Given the description of an element on the screen output the (x, y) to click on. 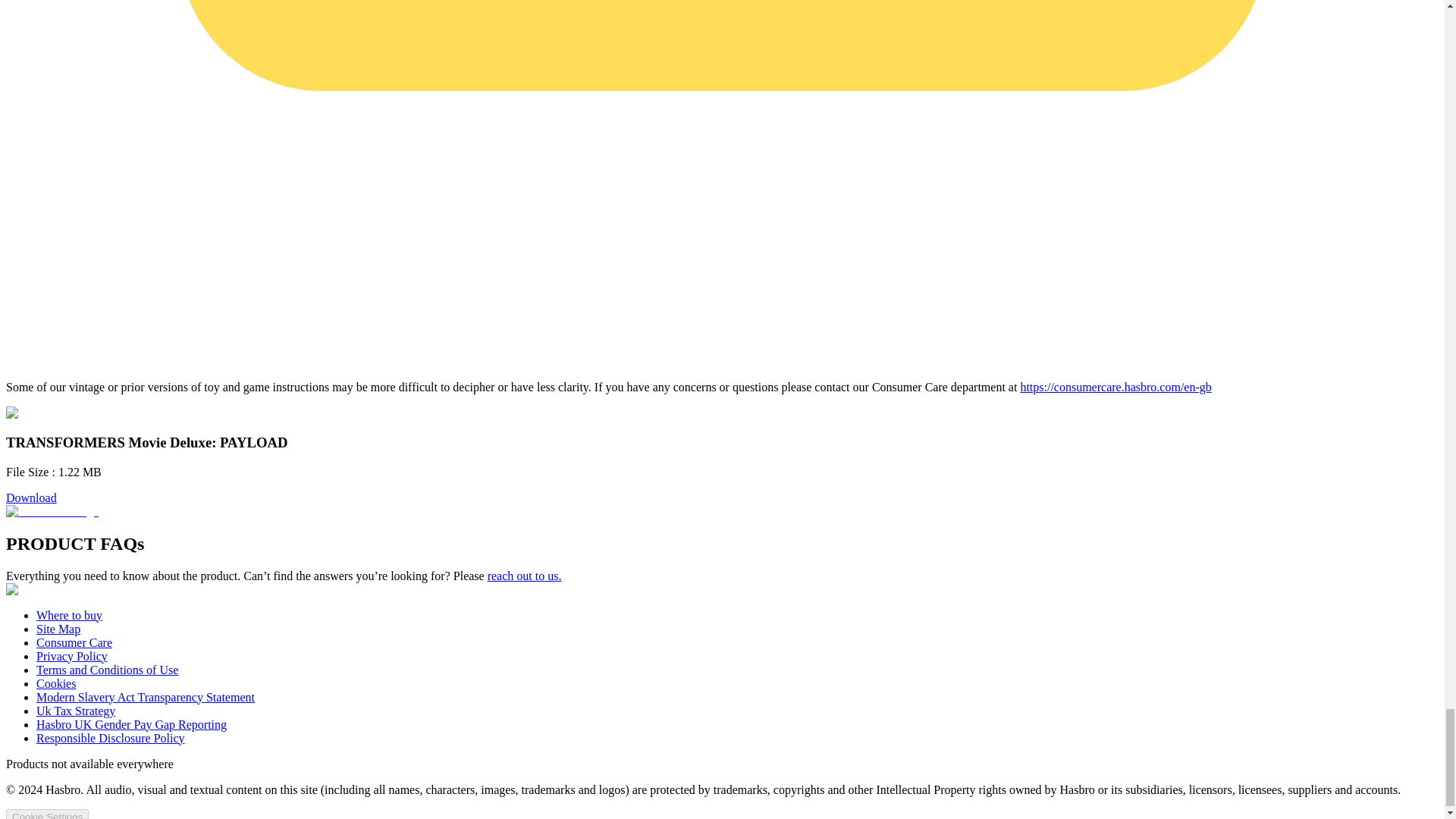
Cookies (55, 683)
Site Map (58, 628)
Modern Slavery Act Transparency Statement (145, 697)
Hasbro UK Gender Pay Gap Reporting (131, 724)
Privacy Policy (71, 656)
Where to buy (68, 615)
Terms and Conditions of Use (106, 669)
Consumer Care (74, 642)
Responsible Disclosure Policy (110, 738)
Uk Tax Strategy (75, 710)
reach out to us. (524, 575)
